Given the description of an element on the screen output the (x, y) to click on. 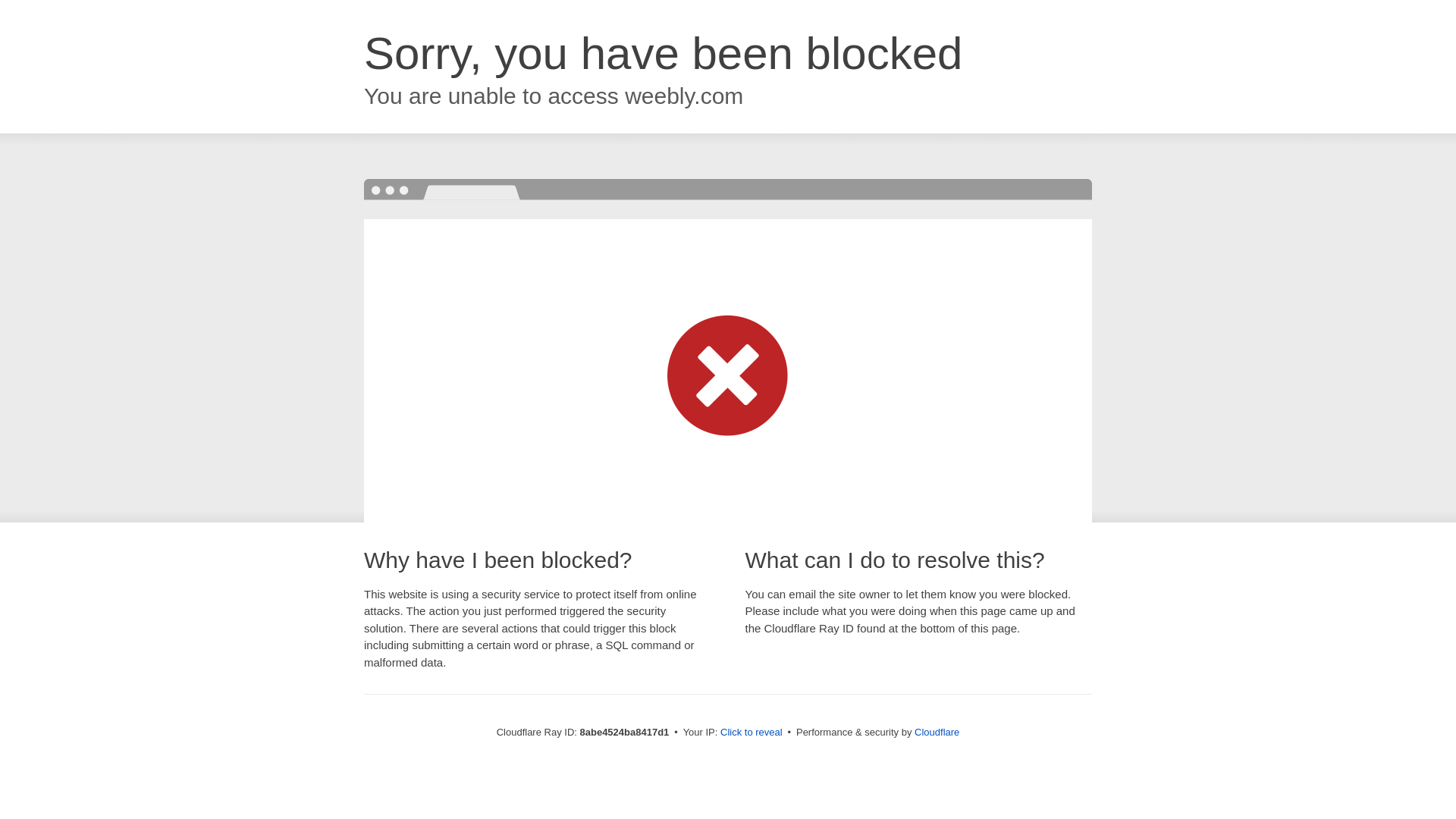
Click to reveal (751, 732)
Cloudflare (936, 731)
